Given the description of an element on the screen output the (x, y) to click on. 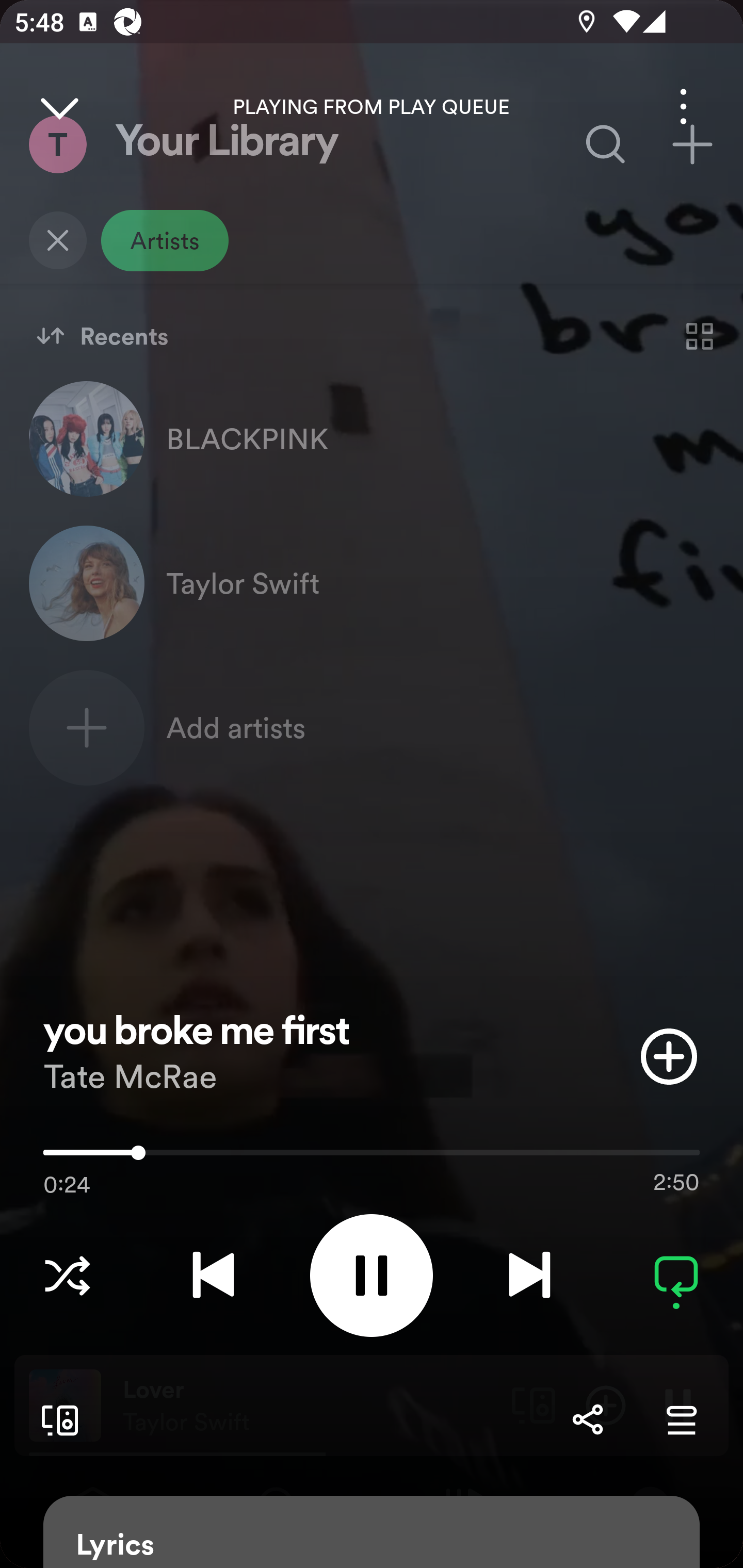
Close (59, 106)
More options for song you broke me first (683, 106)
PLAYING FROM PLAY QUEUE (371, 107)
Add item (669, 1056)
0:24 2:50 24236.0 Use volume keys to adjust (371, 1157)
Pause (371, 1275)
Previous (212, 1275)
Next (529, 1275)
Choose a Listening Mode (66, 1275)
Repeat (676, 1275)
Share (587, 1419)
Go to Queue (681, 1419)
Connect to a device. Opens the devices menu (55, 1419)
Lyrics (371, 1531)
